Given the description of an element on the screen output the (x, y) to click on. 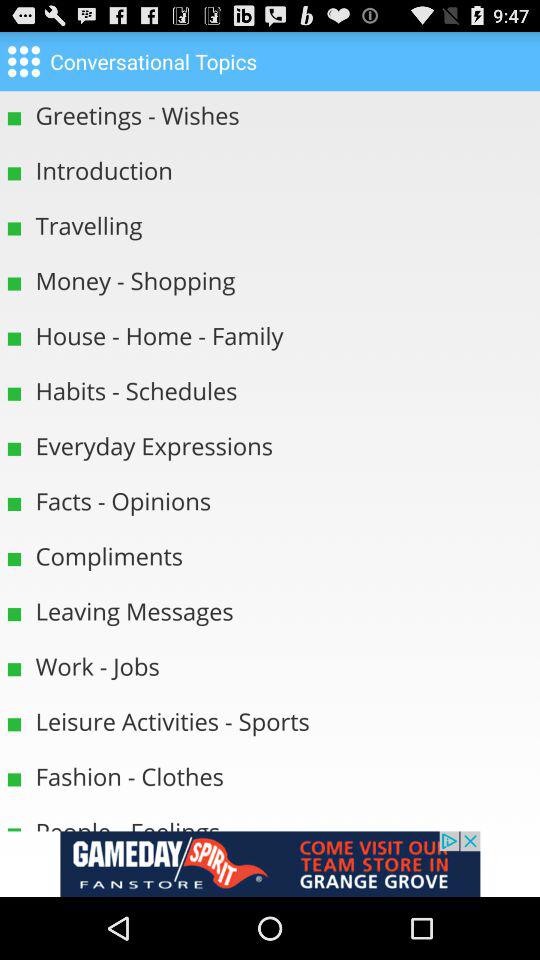
to view main menu (23, 60)
